Given the description of an element on the screen output the (x, y) to click on. 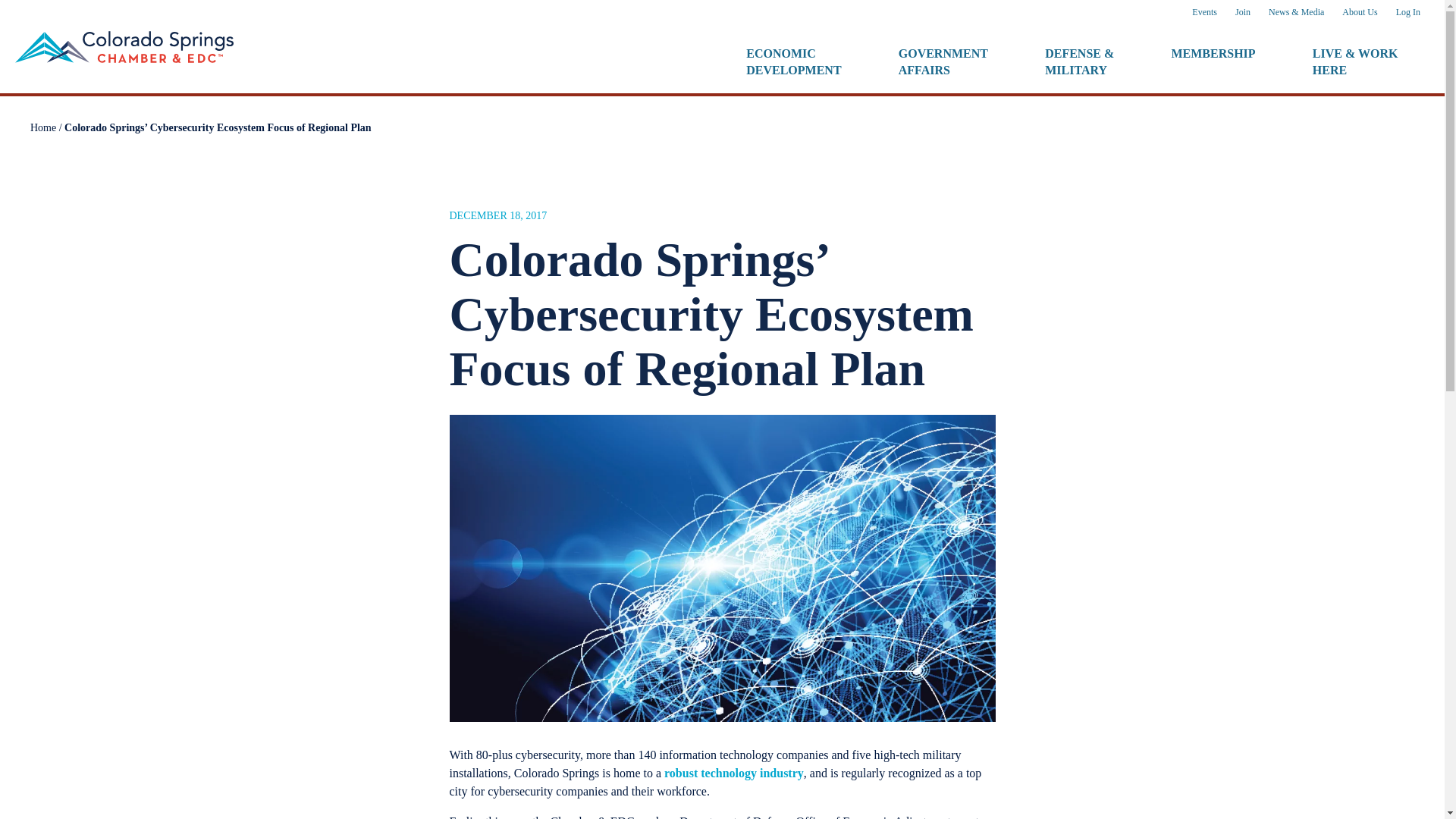
Events (1203, 12)
Log In (1408, 12)
Join (1242, 12)
MEMBERSHIP (793, 61)
About Us (942, 61)
